Given the description of an element on the screen output the (x, y) to click on. 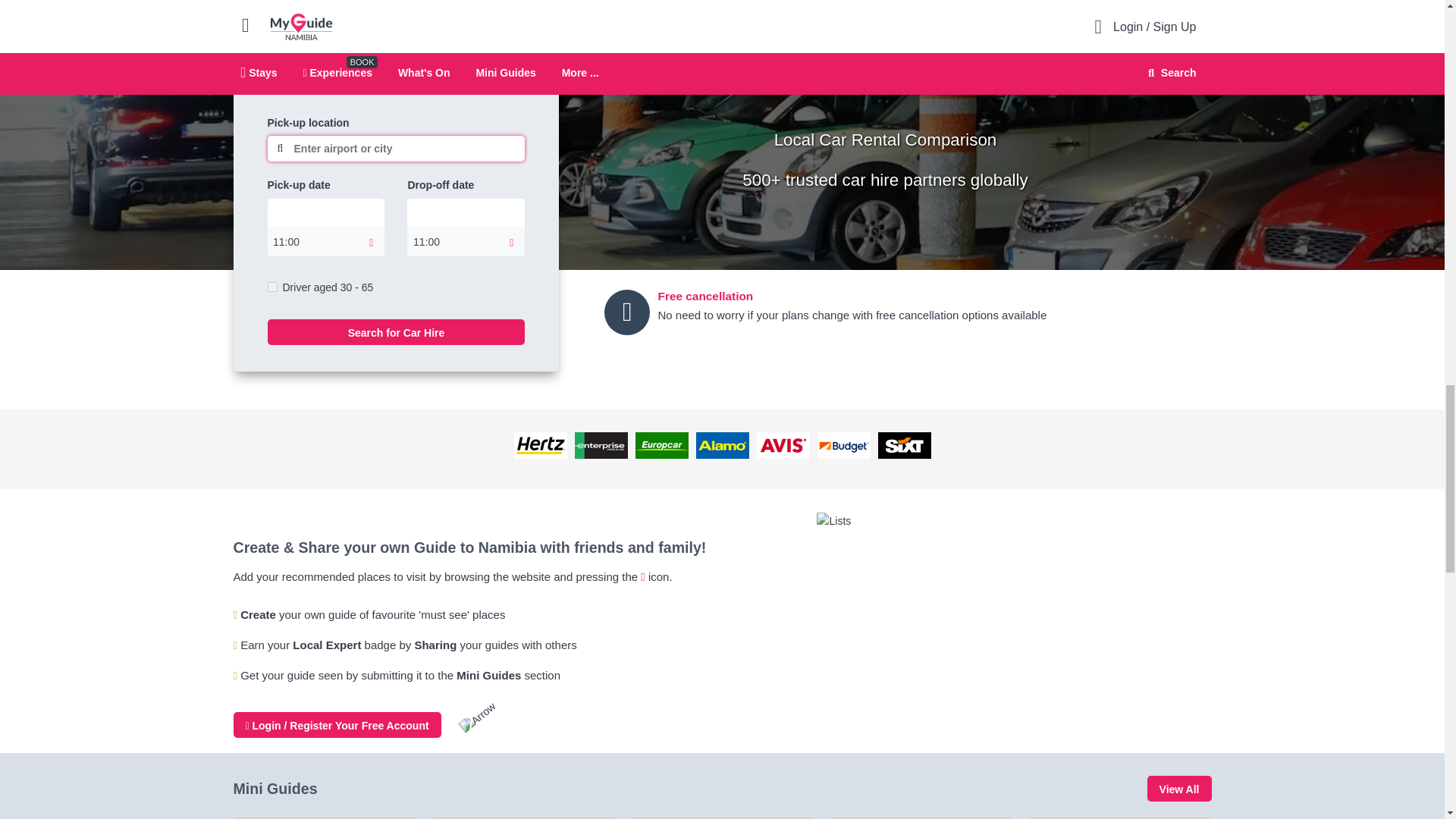
on (271, 286)
